Given the description of an element on the screen output the (x, y) to click on. 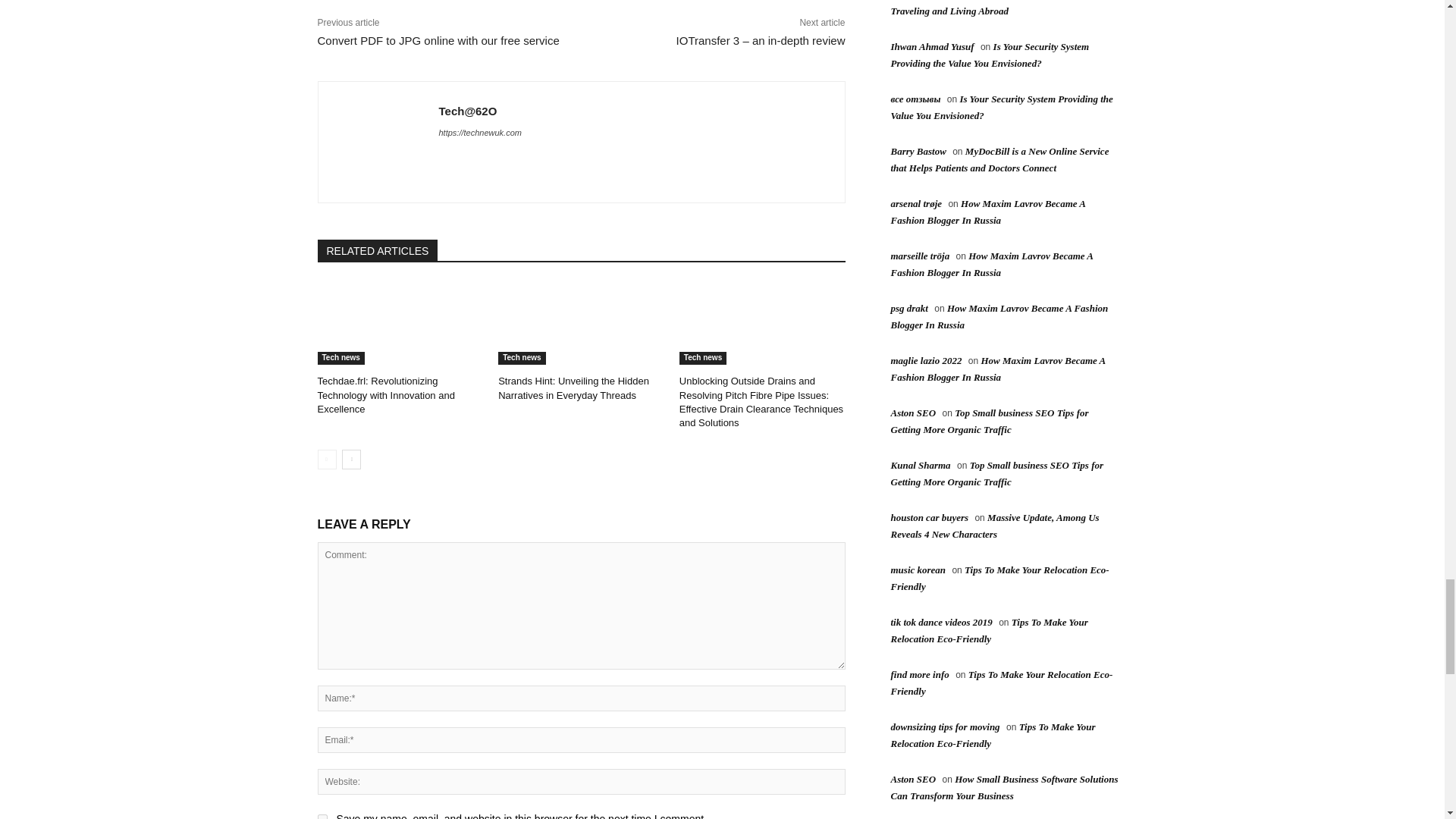
yes (321, 816)
